Given the description of an element on the screen output the (x, y) to click on. 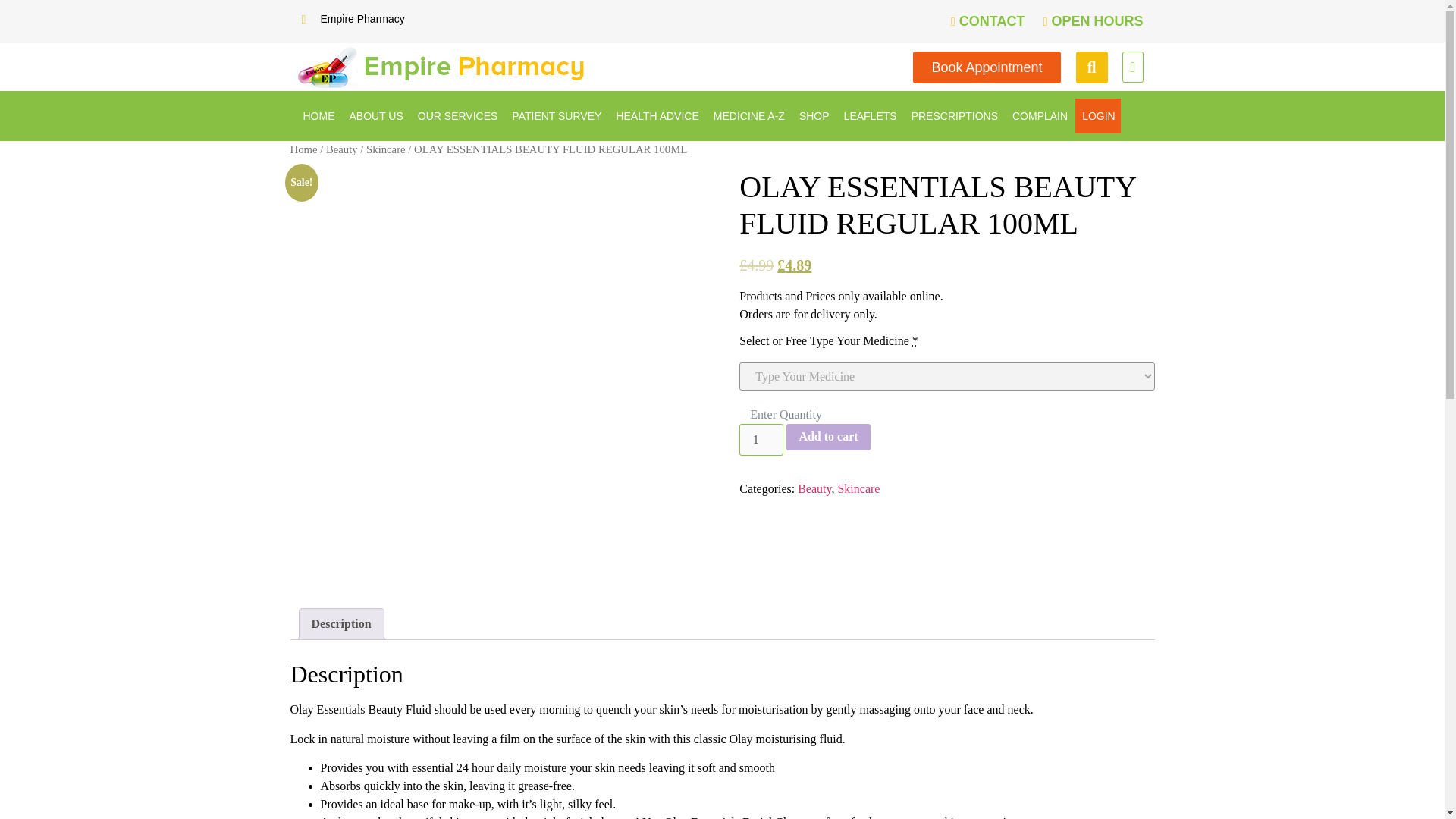
CONTACT (982, 21)
LOGIN (1099, 115)
OUR SERVICES (457, 115)
HEALTH ADVICE (656, 115)
required (915, 340)
MEDICINE A-Z (748, 115)
HOME (318, 115)
SHOP (813, 115)
OPEN HOURS (1087, 21)
PRESCRIPTIONS (954, 115)
Book Appointment (985, 67)
COMPLAIN (1040, 115)
ABOUT US (376, 115)
1 (761, 439)
PATIENT SURVEY (556, 115)
